Given the description of an element on the screen output the (x, y) to click on. 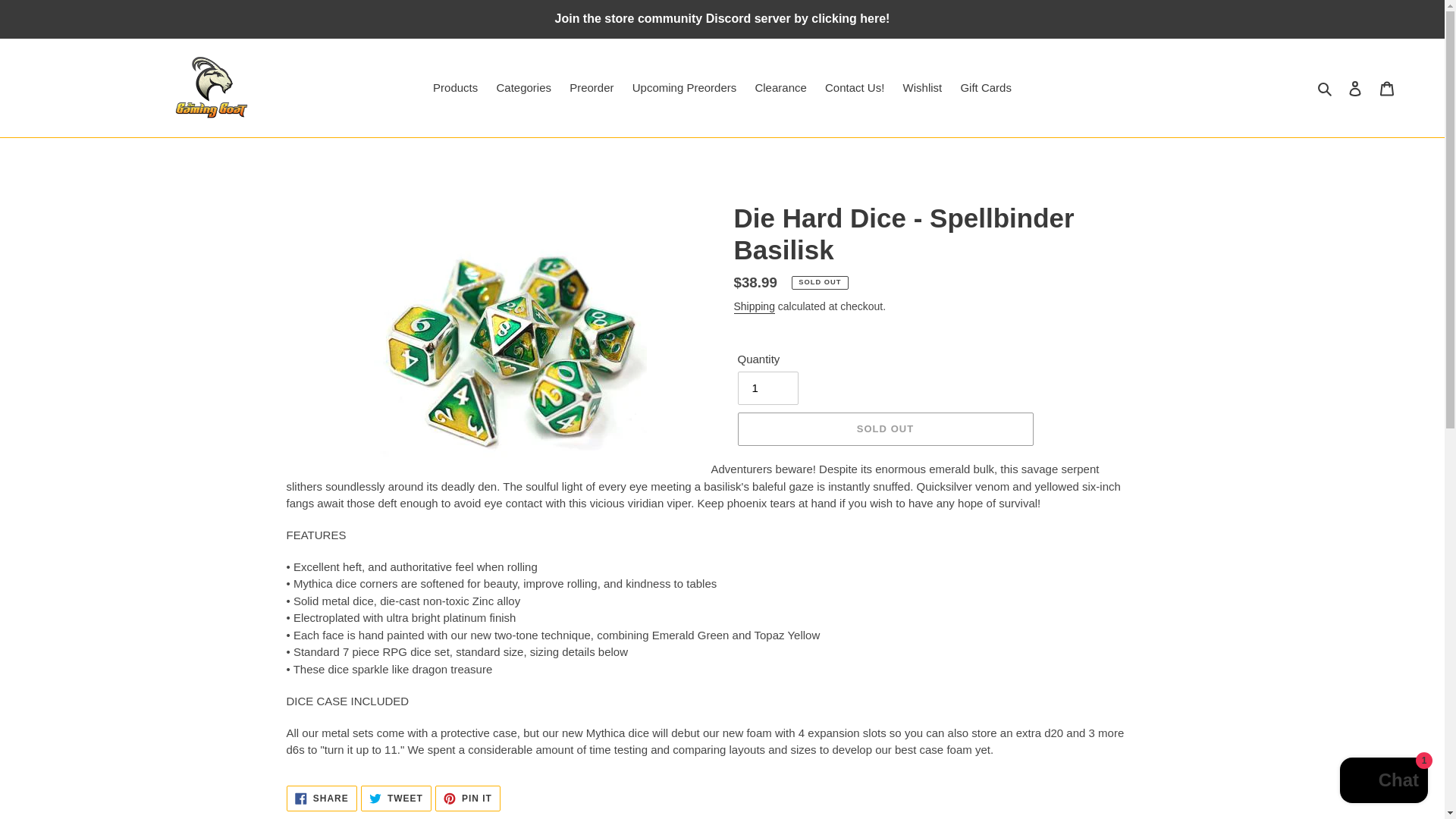
Categories (523, 87)
Join the store community Discord server by clicking here! (721, 18)
Shopify online store chat (1383, 781)
Cart (1387, 88)
Search (321, 798)
Products (1326, 87)
Preorder (454, 87)
Log in (591, 87)
SOLD OUT (467, 798)
Shipping (1355, 88)
Gift Cards (884, 428)
Wishlist (753, 306)
